Given the description of an element on the screen output the (x, y) to click on. 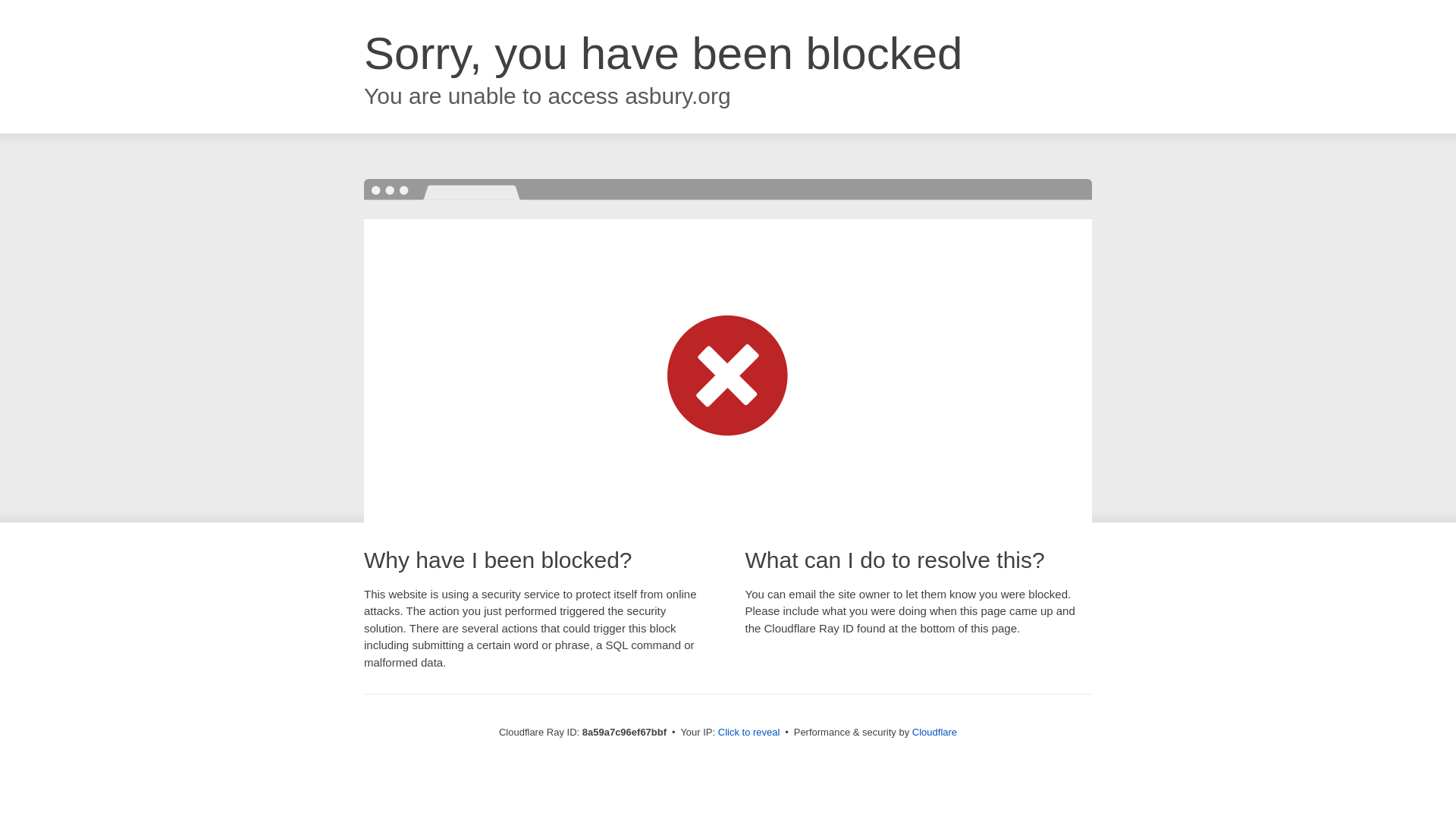
Cloudflare (934, 731)
Click to reveal (748, 732)
